Given the description of an element on the screen output the (x, y) to click on. 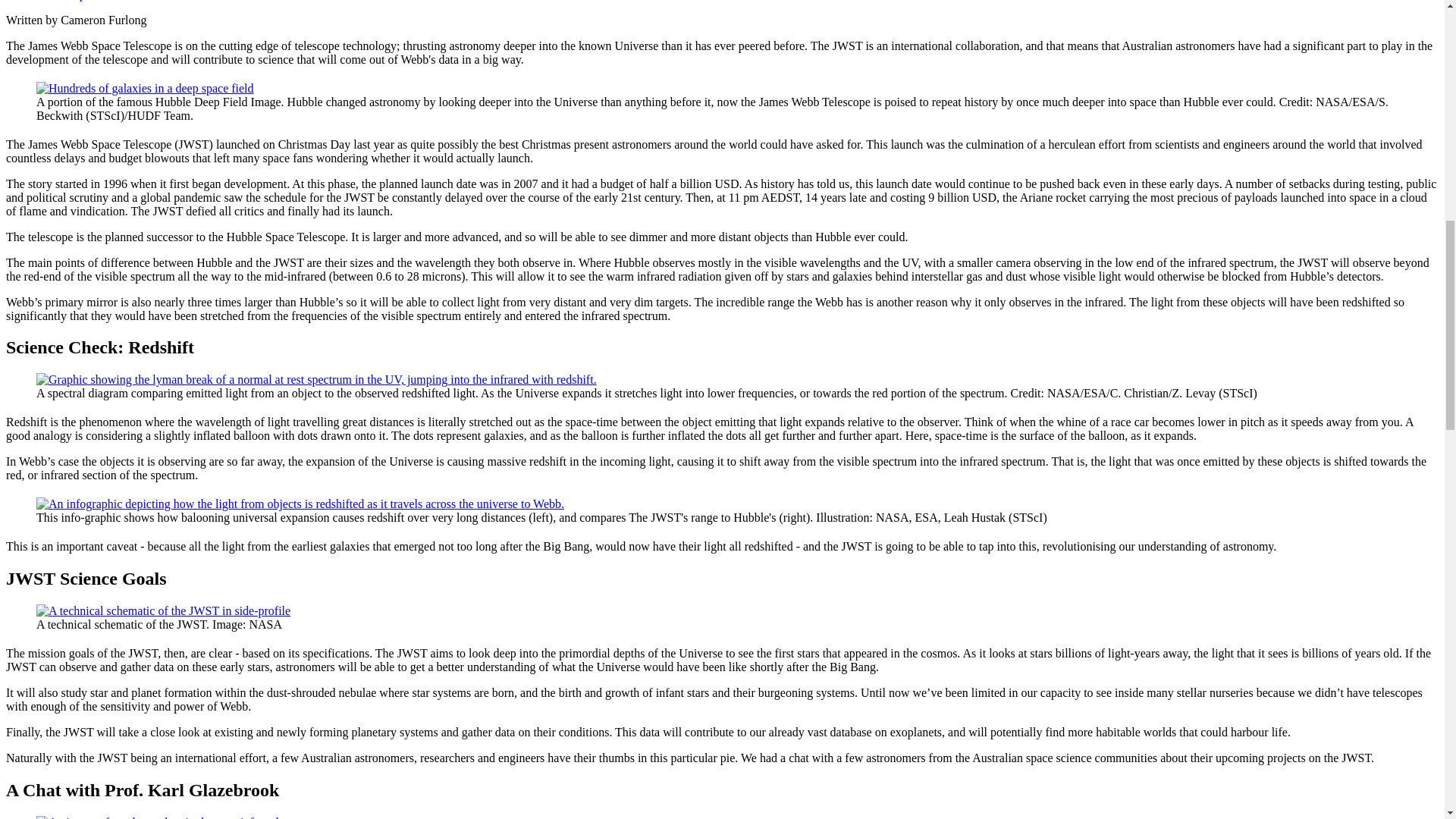
Telescopes (69, 0)
